Given the description of an element on the screen output the (x, y) to click on. 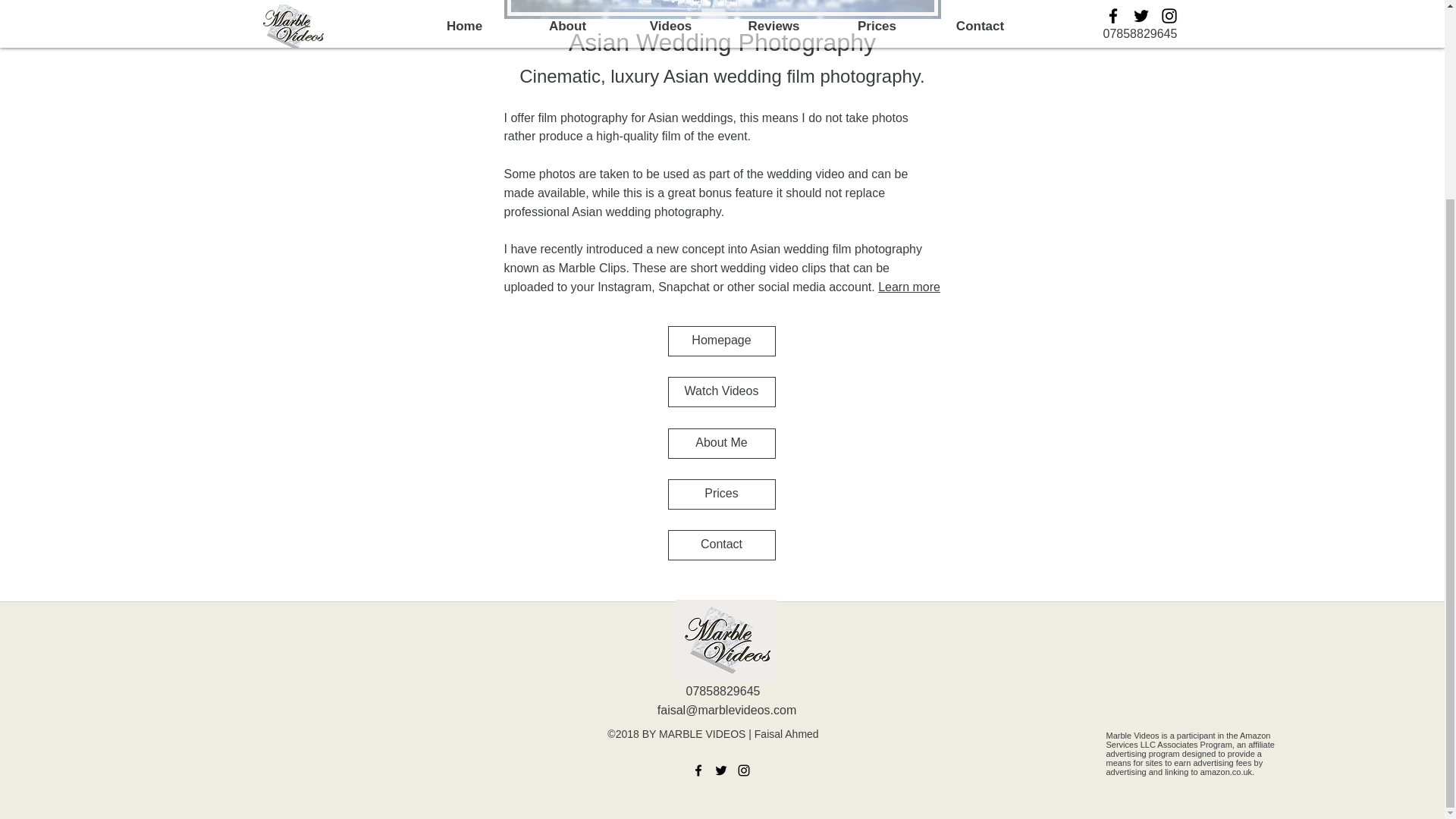
Watch Videos (720, 391)
Homepage (720, 340)
About Me (720, 443)
Contact (720, 544)
Prices (720, 494)
Learn more (908, 286)
